Given the description of an element on the screen output the (x, y) to click on. 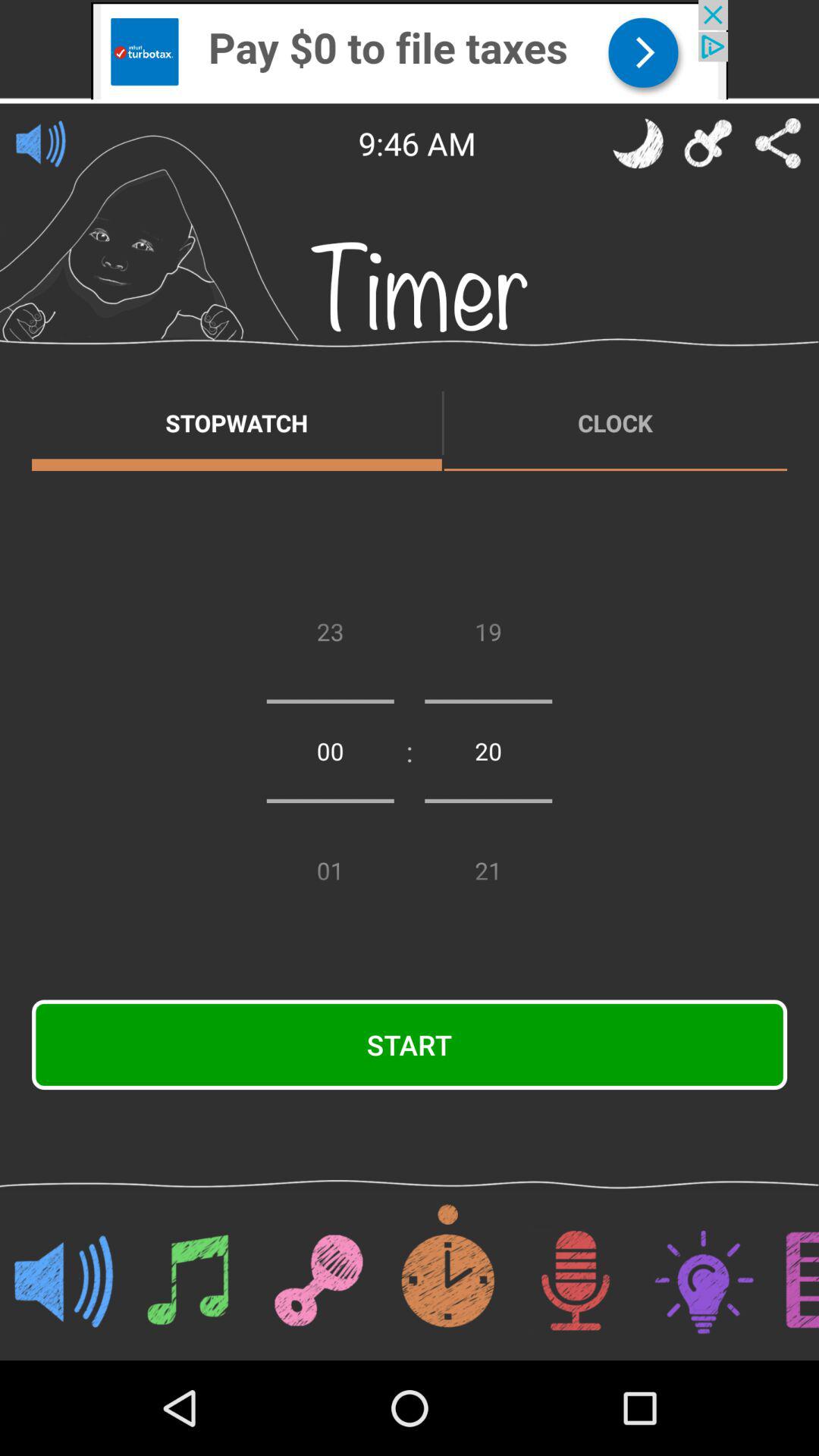
toggle night time mode (638, 143)
